Given the description of an element on the screen output the (x, y) to click on. 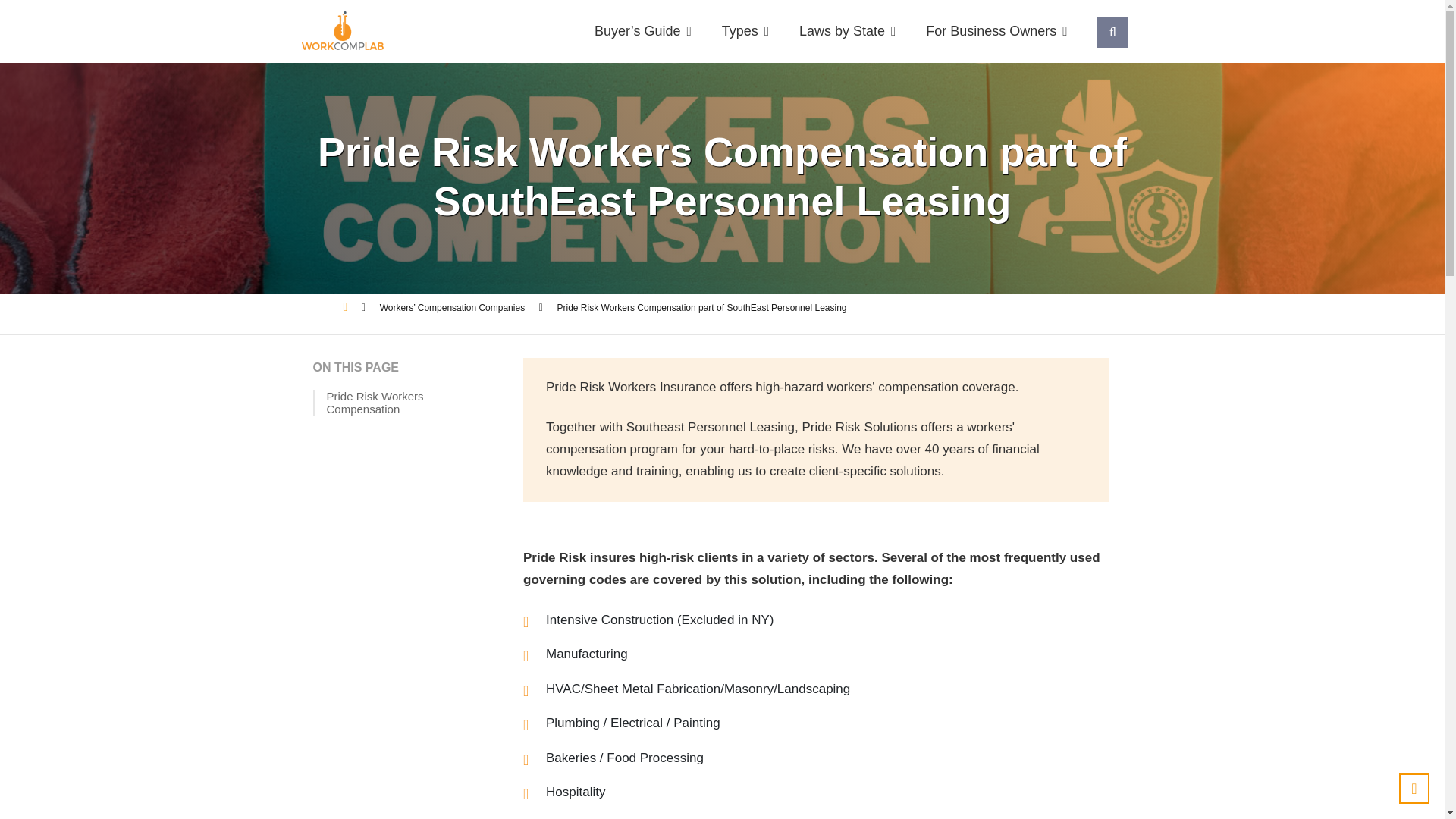
Types (745, 31)
Laws by State (847, 31)
